Given the description of an element on the screen output the (x, y) to click on. 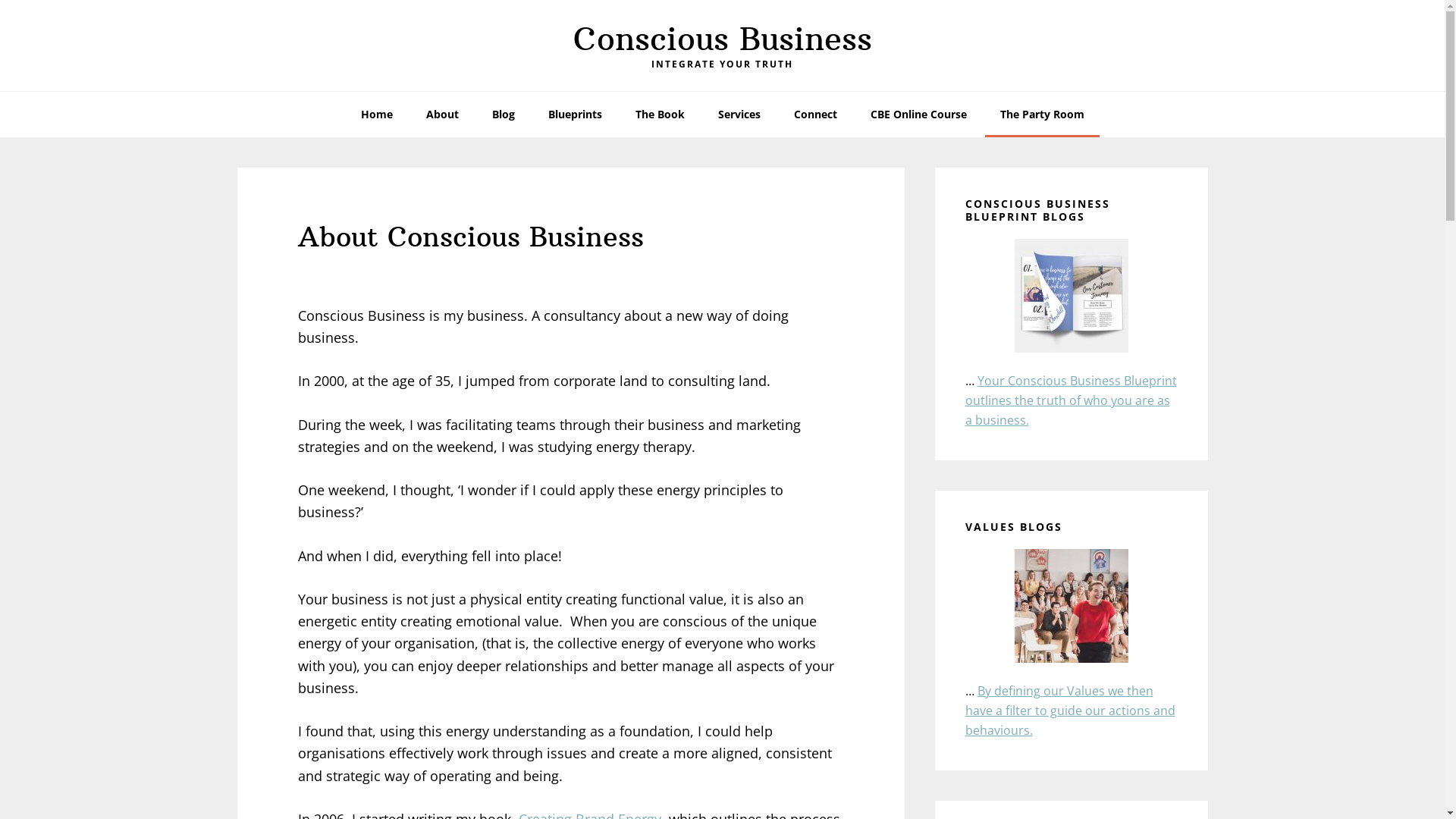
The Book Element type: text (659, 114)
CBE Online Course Element type: text (918, 114)
Conscious Business Element type: text (722, 38)
Blog Element type: text (502, 114)
About Element type: text (442, 114)
Connect Element type: text (814, 114)
Skip to primary navigation Element type: text (0, 0)
Home Element type: text (376, 114)
Services Element type: text (738, 114)
The Party Room Element type: text (1041, 114)
Blueprints Element type: text (574, 114)
